Given the description of an element on the screen output the (x, y) to click on. 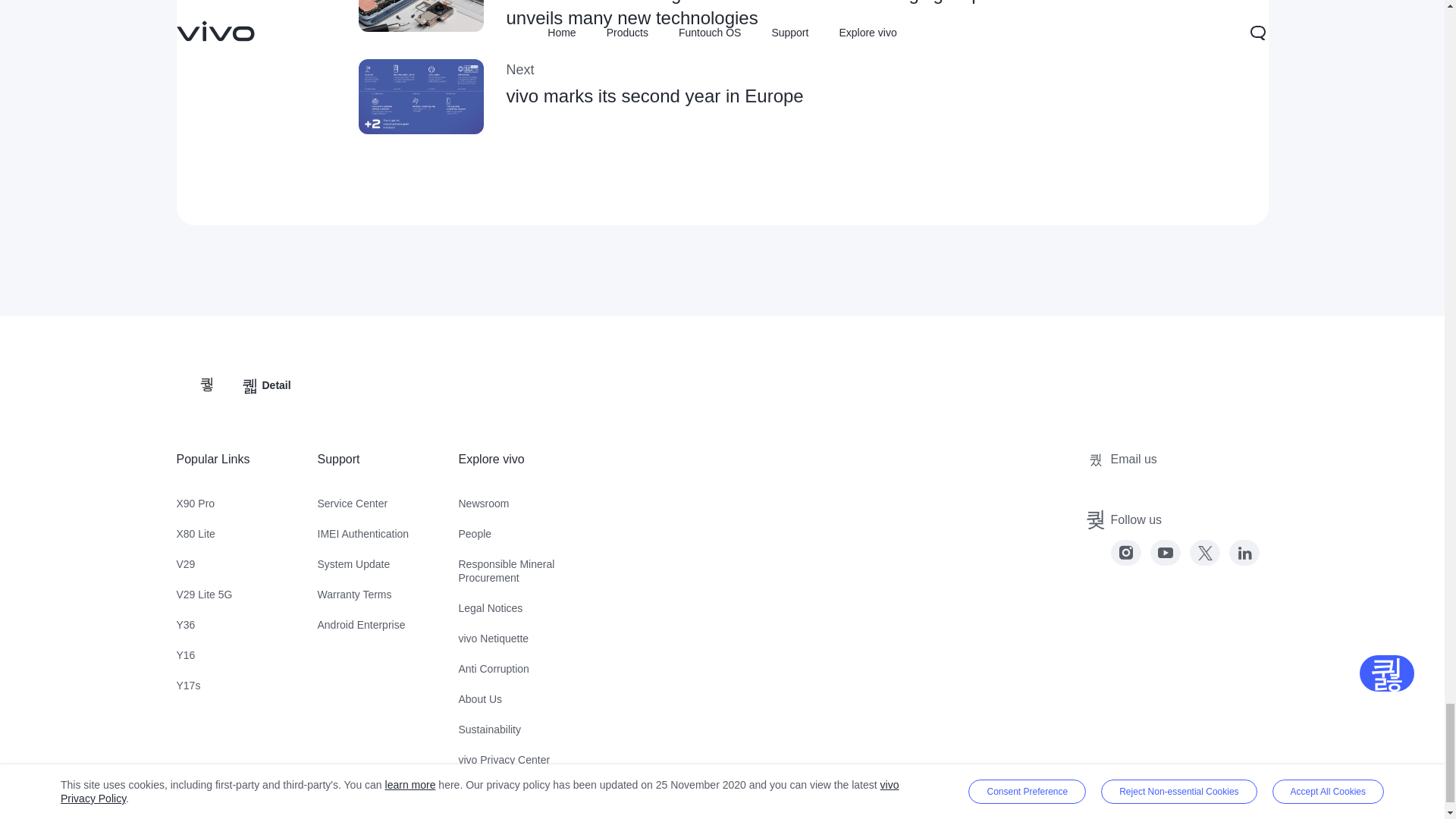
instagram (1124, 552)
youtube (1164, 552)
twitter (722, 96)
linkedin (1204, 552)
